Given the description of an element on the screen output the (x, y) to click on. 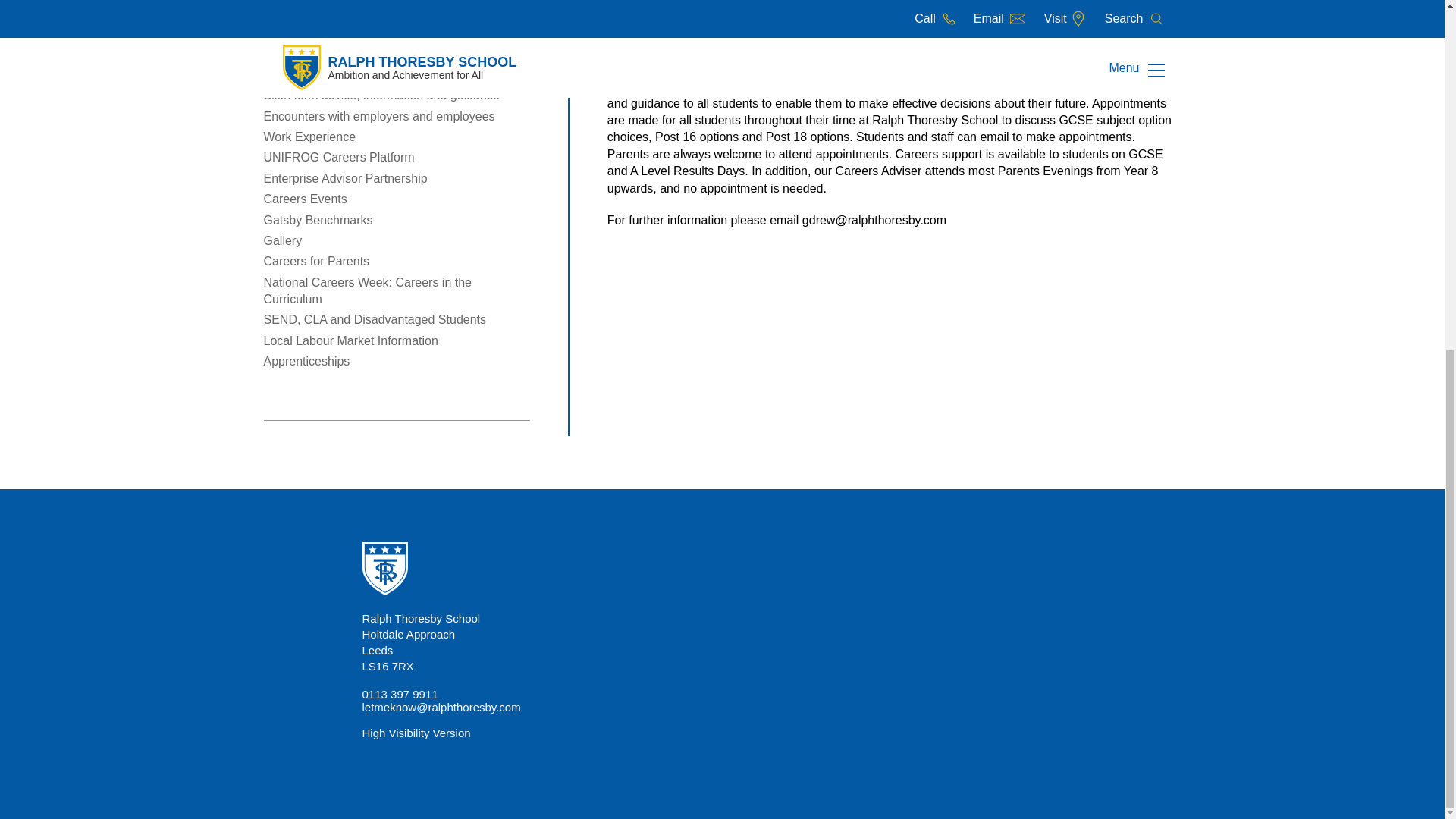
Gallery (282, 240)
Sixth form advice, information and guidance (381, 94)
Enterprise Advisor Partnership (345, 178)
Apprenticeships (306, 360)
UNIFROG Careers Platform (338, 156)
Work Experience (309, 136)
UNIFROG Careers Platform (338, 156)
Work Experience (309, 136)
High Visibility Version (416, 732)
Enterprise Advisor Partnership (345, 178)
